Given the description of an element on the screen output the (x, y) to click on. 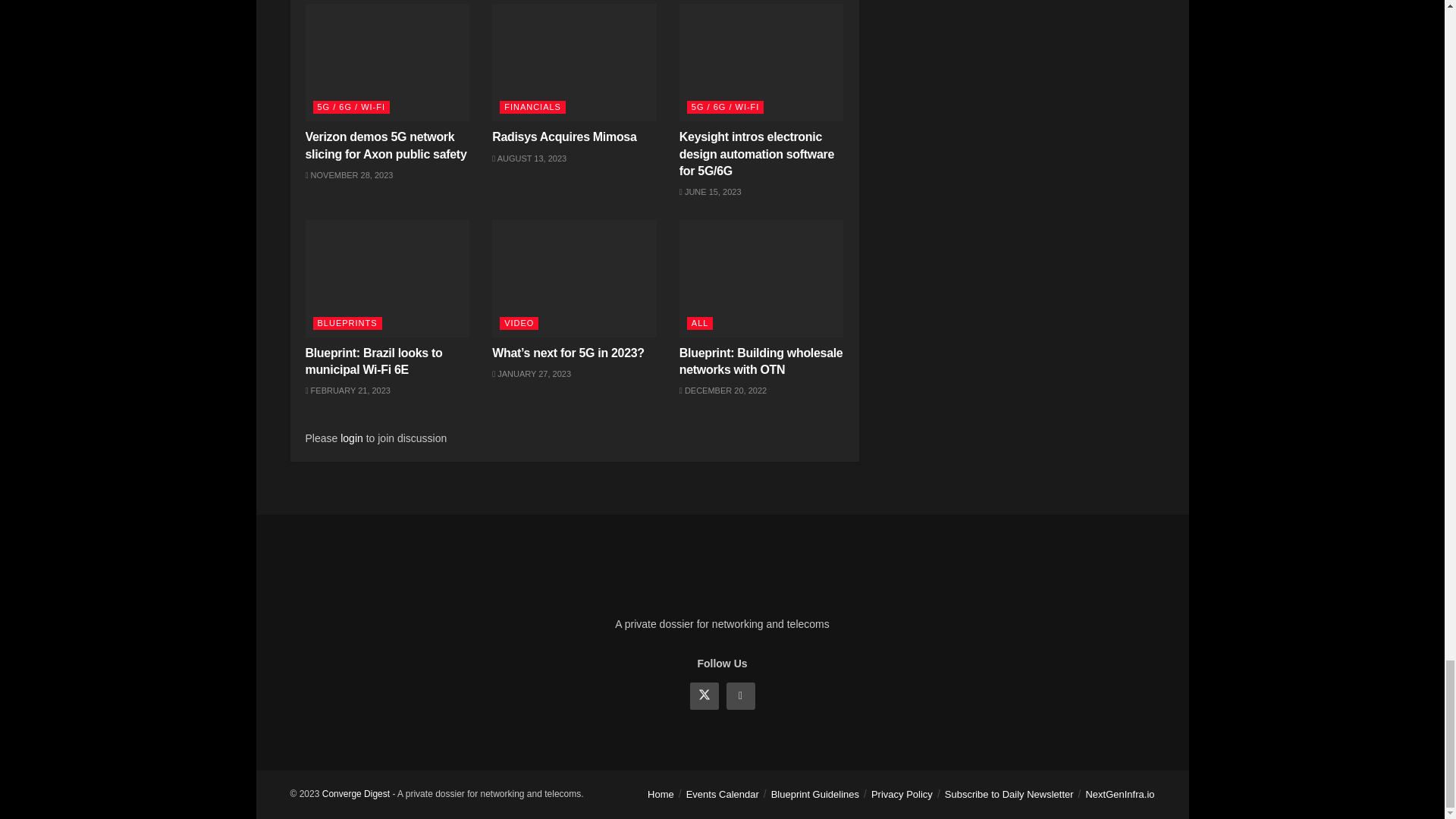
Converge Digest (355, 793)
